Given the description of an element on the screen output the (x, y) to click on. 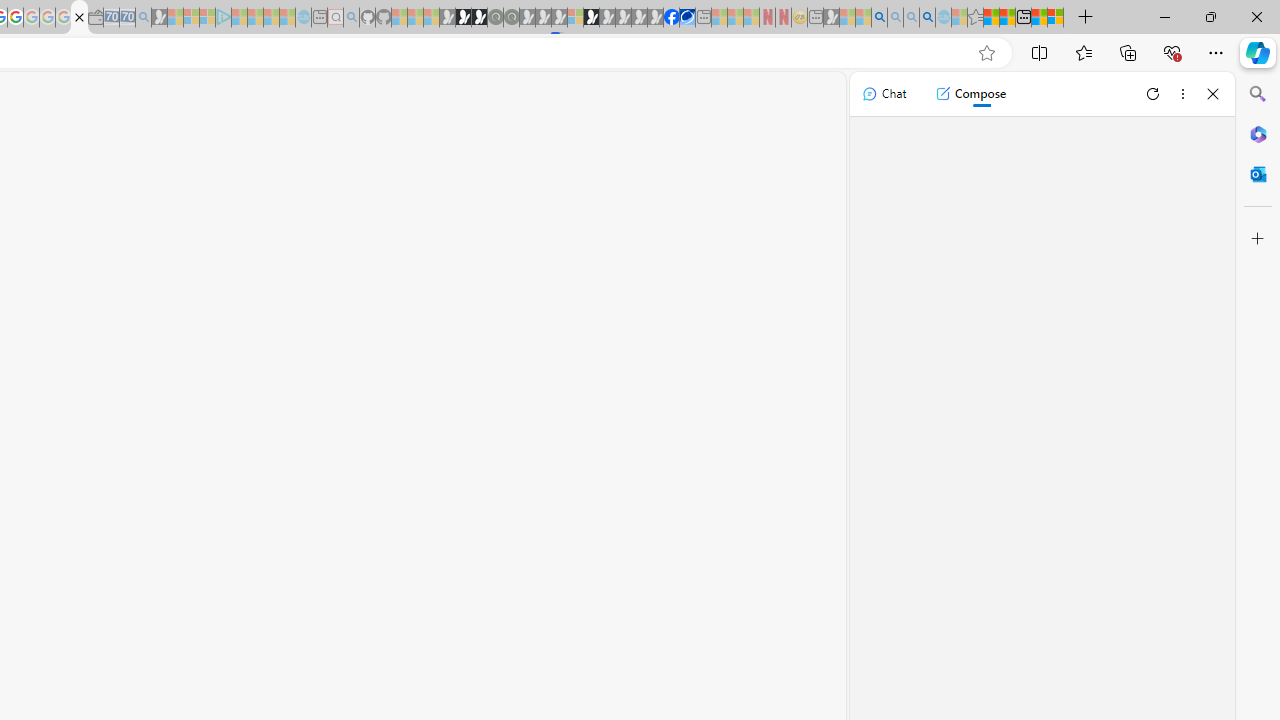
MSN - Sleeping (831, 17)
Microsoft Start Gaming - Sleeping (159, 17)
Future Focus Report 2024 - Sleeping (511, 17)
